Given the description of an element on the screen output the (x, y) to click on. 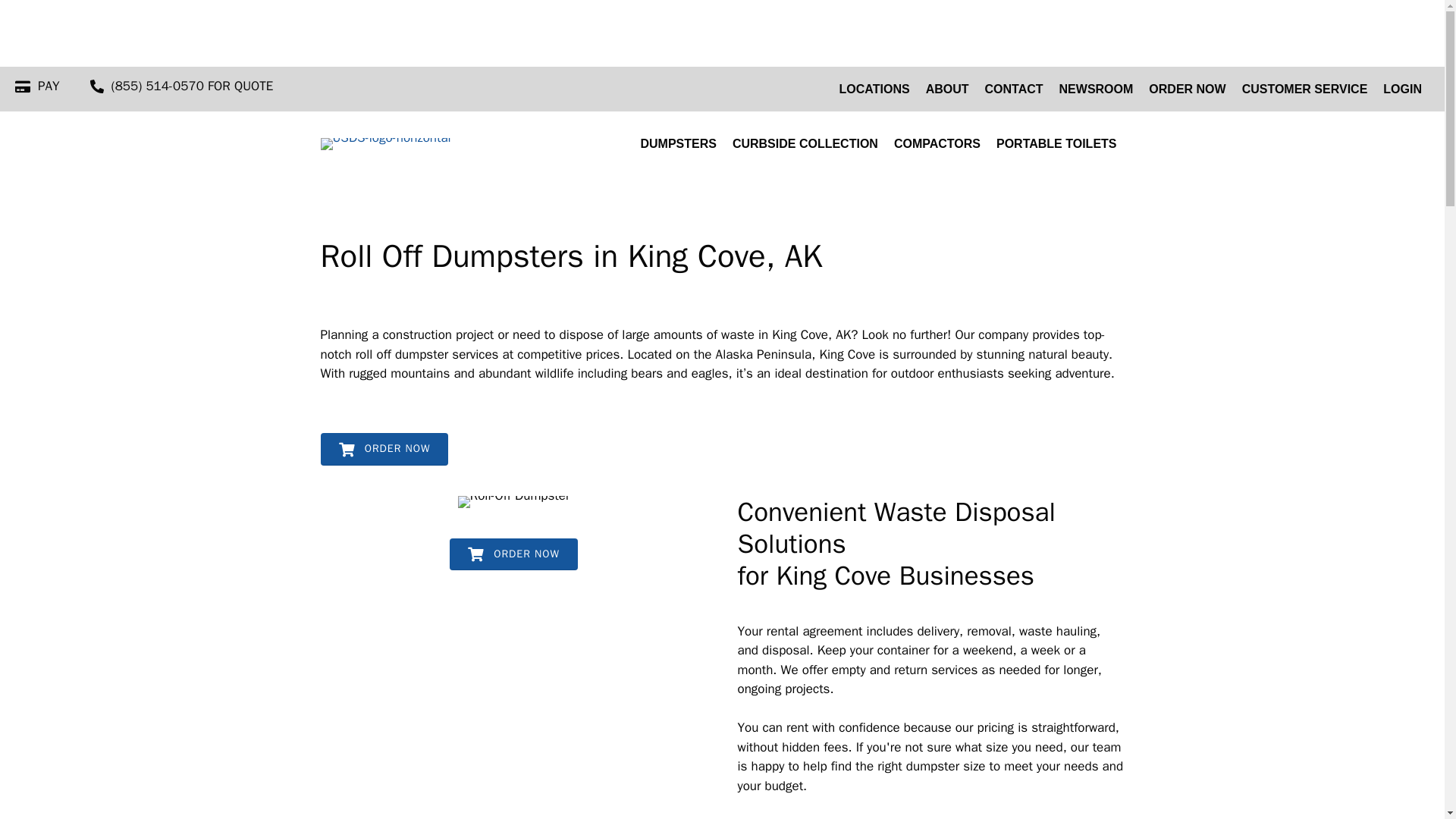
ABOUT (947, 89)
LOCATIONS (874, 89)
NEWSROOM (1096, 89)
PORTABLE TOILETS (1056, 144)
PAY (48, 86)
ORDER NOW (1187, 89)
CURBSIDE COLLECTION (805, 144)
CUSTOMER SERVICE (1304, 89)
ORDER NOW (384, 449)
ORDER NOW (513, 554)
